Given the description of an element on the screen output the (x, y) to click on. 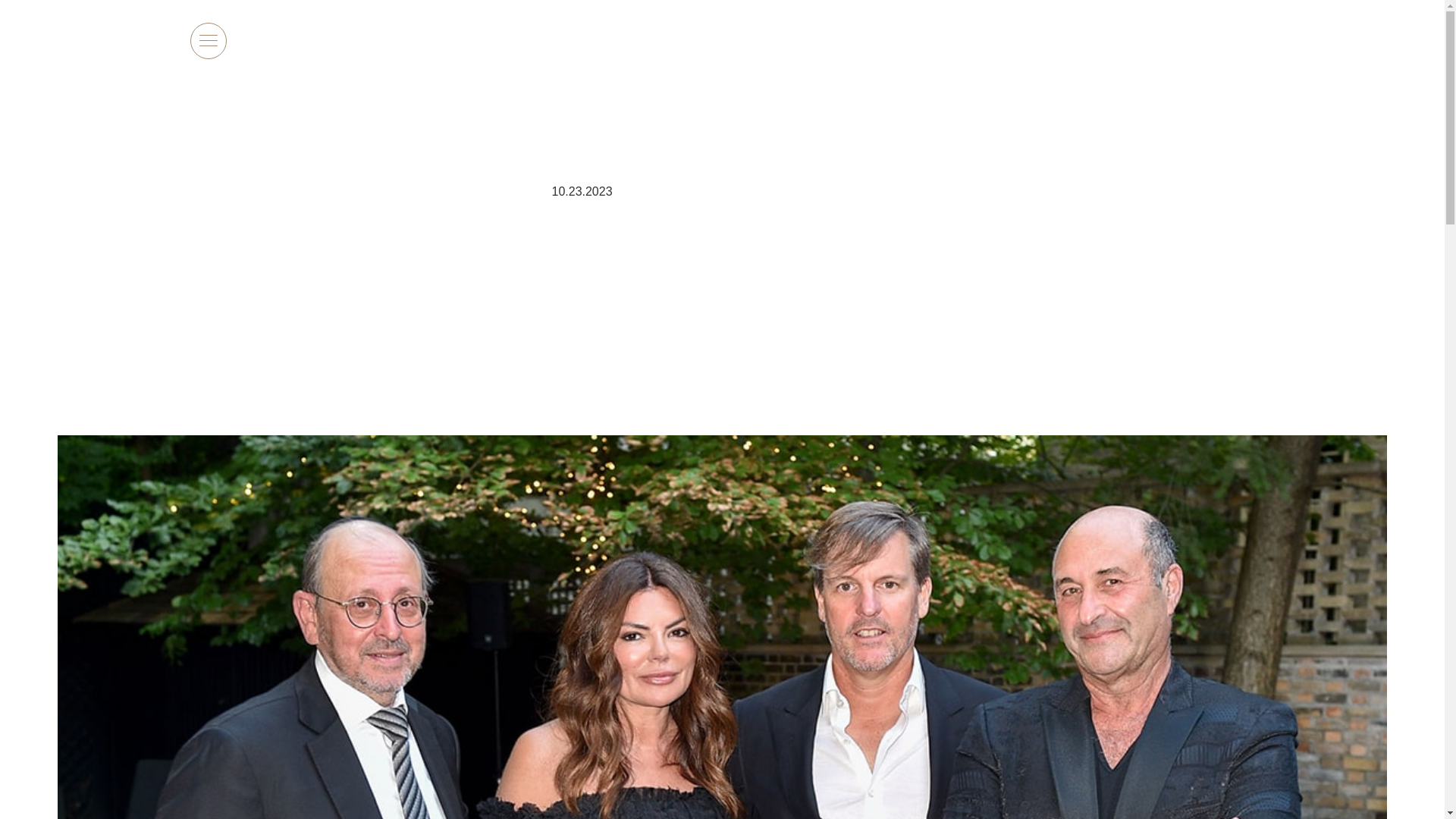
Back (230, 136)
